Given the description of an element on the screen output the (x, y) to click on. 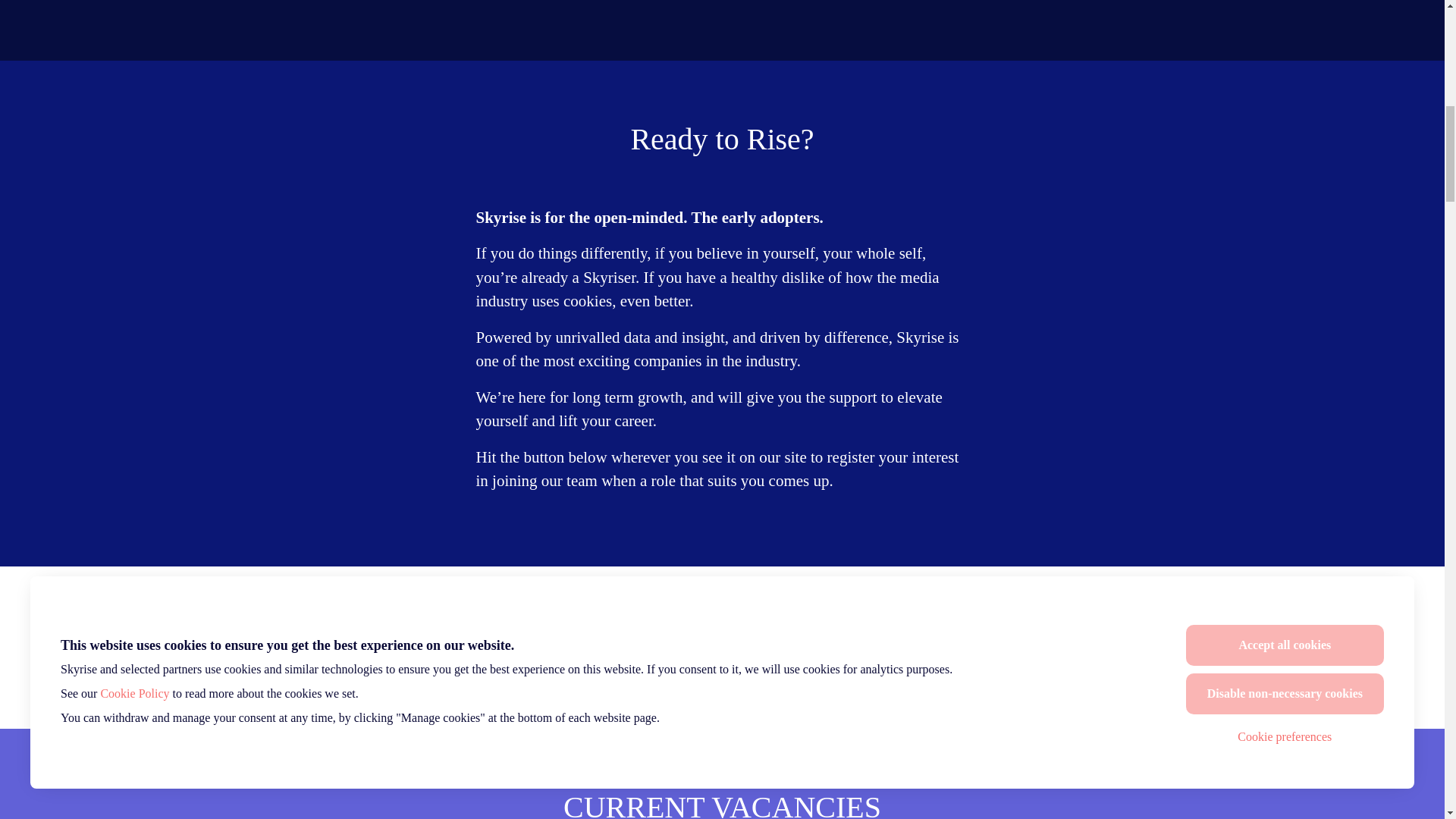
Join our team (722, 646)
